Given the description of an element on the screen output the (x, y) to click on. 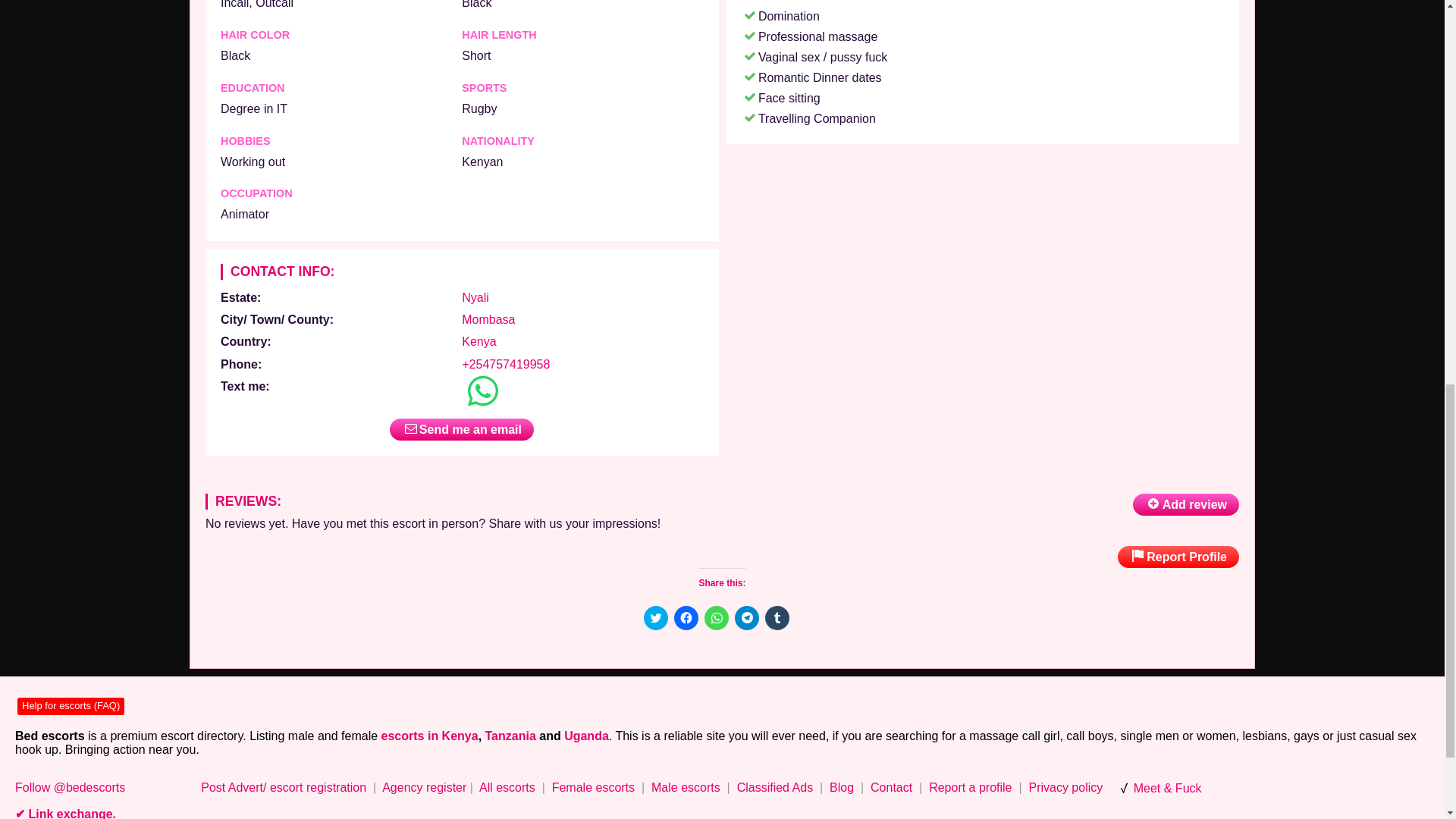
Nyali (475, 297)
Click to share on Twitter (654, 617)
Click to share on Tumblr (776, 617)
Nyali (475, 297)
Mombasa (488, 318)
Mombasa (488, 318)
Click to share on Telegram (745, 617)
Click to share on WhatsApp (715, 617)
Kenya (478, 341)
Kenya (478, 341)
Click to share on Facebook (684, 617)
